Given the description of an element on the screen output the (x, y) to click on. 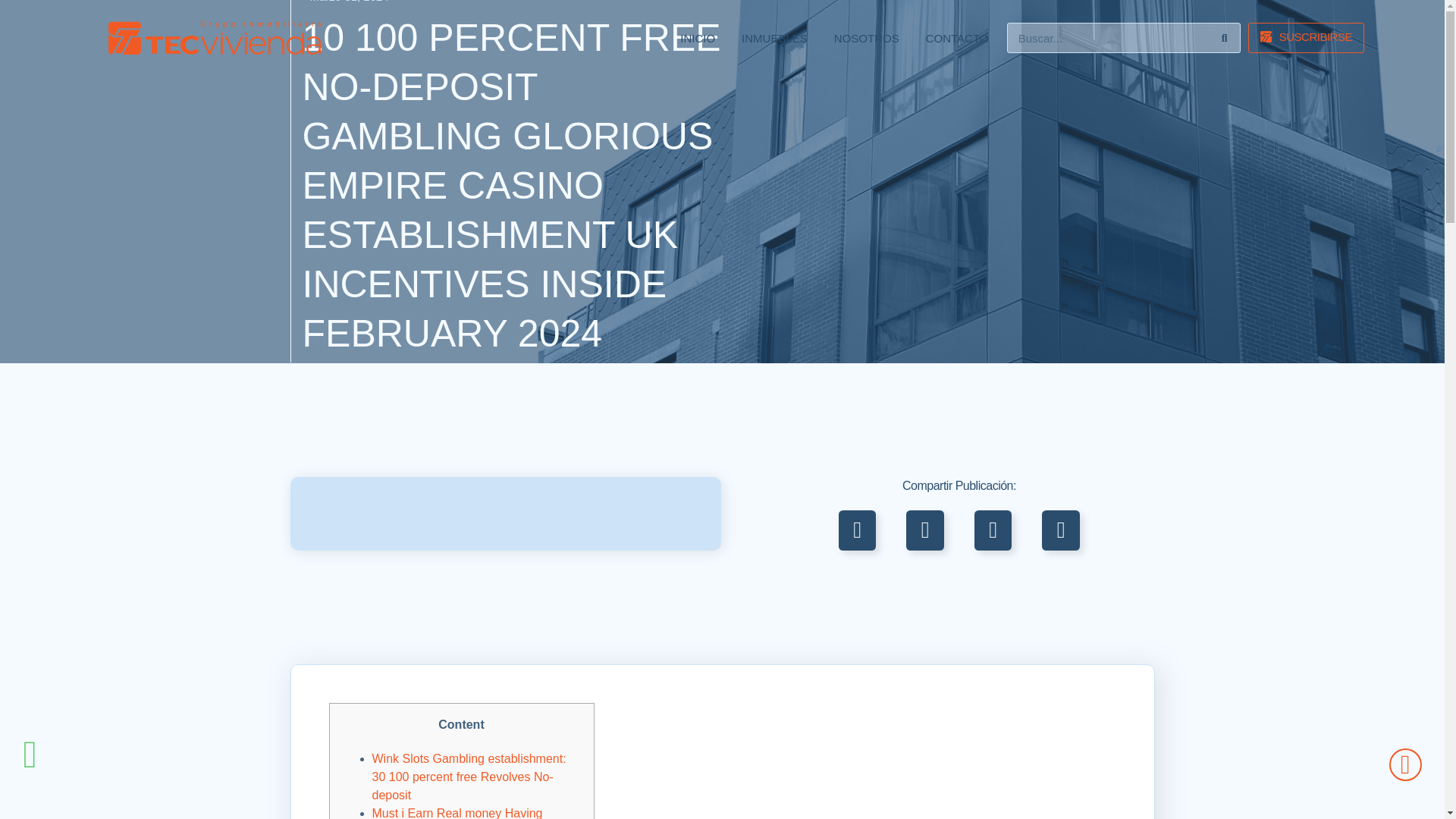
CONTACTO (957, 37)
Marzo 31, 2024 (344, 2)
Buscar (1107, 37)
Buscar (1224, 37)
NOSOTROS (866, 37)
INMUEBLES (774, 37)
Must i Earn Real money Having Casino 100 percent free Spins? (456, 812)
INICIO (697, 37)
